Given the description of an element on the screen output the (x, y) to click on. 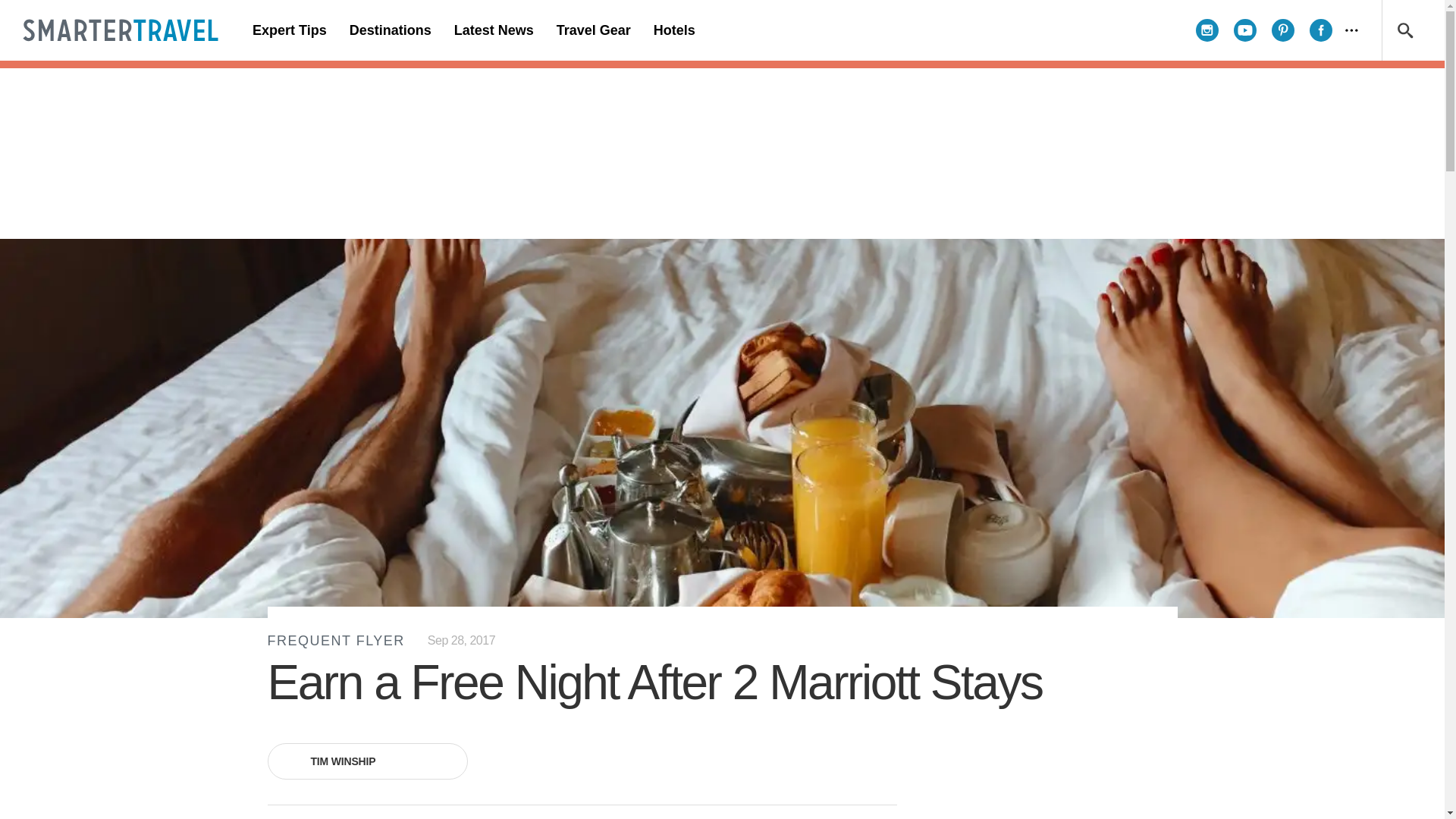
Expert Tips (289, 30)
Travel Gear (593, 30)
Hotels (674, 30)
Destinations (389, 30)
Latest News (493, 30)
